Given the description of an element on the screen output the (x, y) to click on. 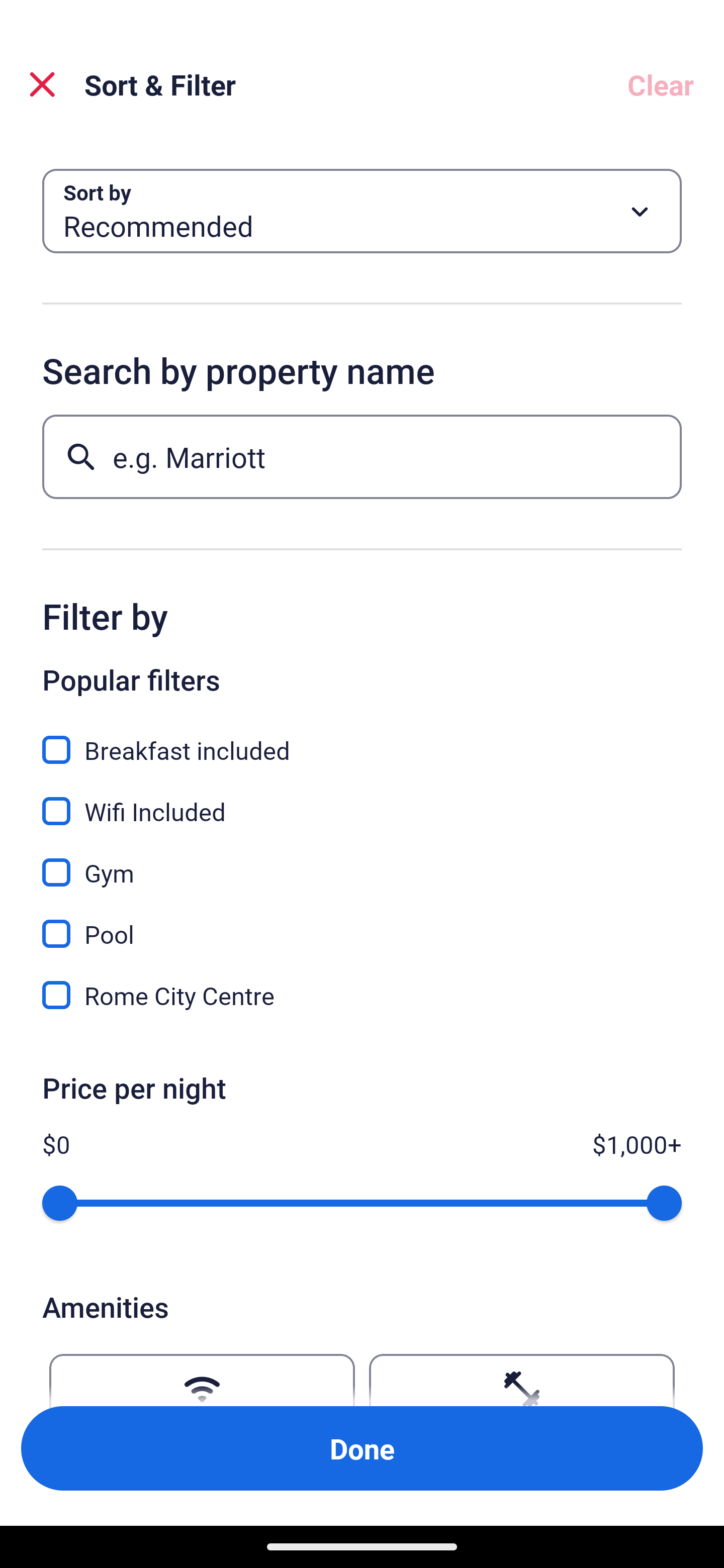
Close Sort and Filter (42, 84)
Clear (660, 84)
Sort by Button Recommended (361, 211)
e.g. Marriott Button (361, 455)
Breakfast included, Breakfast included (361, 738)
Wifi Included, Wifi Included (361, 800)
Gym, Gym (361, 861)
Pool, Pool (361, 922)
Rome City Centre, Rome City Centre (361, 995)
Apply and close Sort and Filter Done (361, 1448)
